Given the description of an element on the screen output the (x, y) to click on. 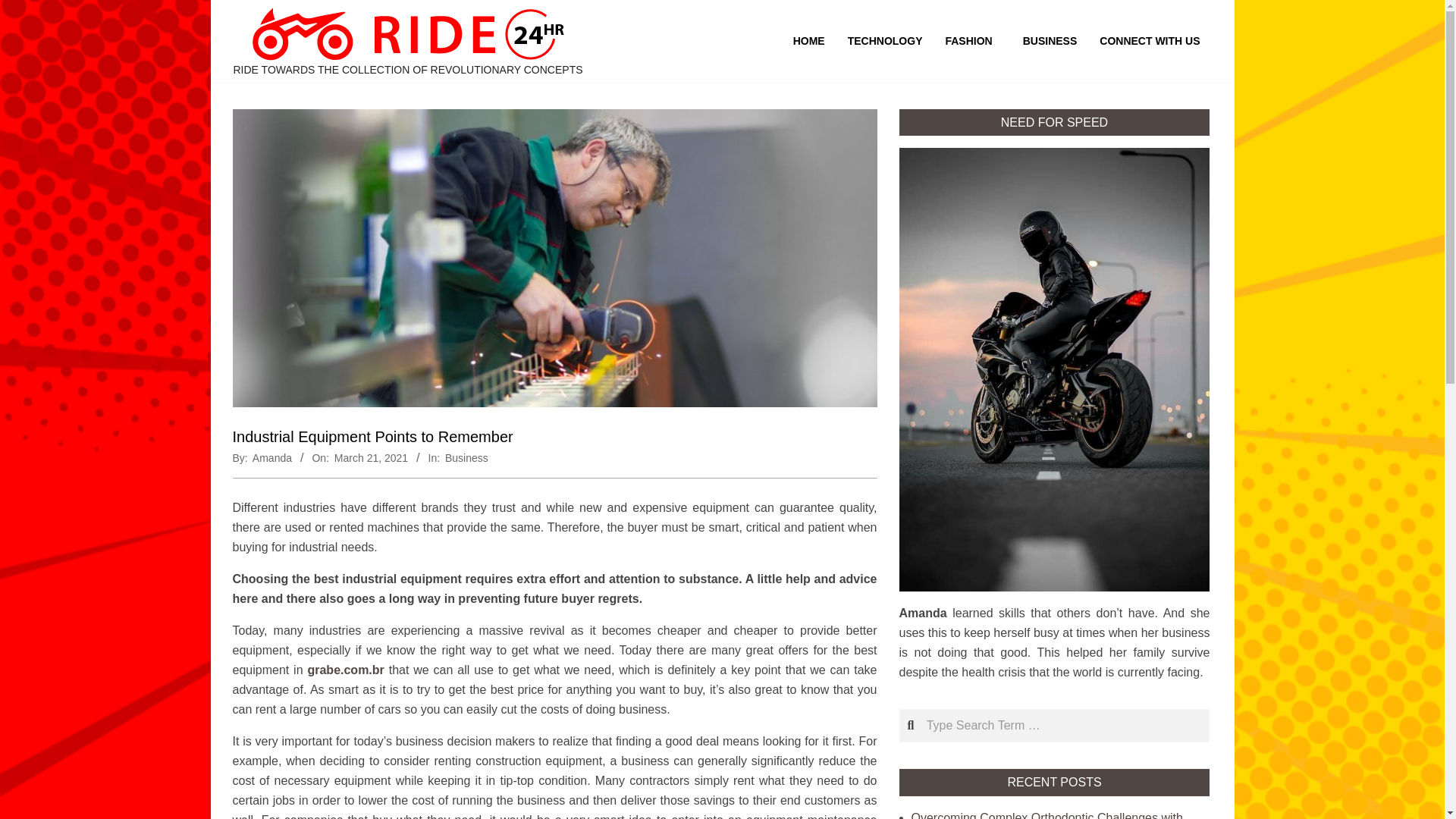
CONNECT WITH US (1149, 41)
Amanda (271, 458)
grabe.com.br (345, 669)
Posts by Amanda (271, 458)
HOME (808, 41)
BUSINESS (1050, 41)
Business (466, 458)
Sunday, March 21, 2021, 1:21 pm (370, 458)
FASHION (971, 41)
